Given the description of an element on the screen output the (x, y) to click on. 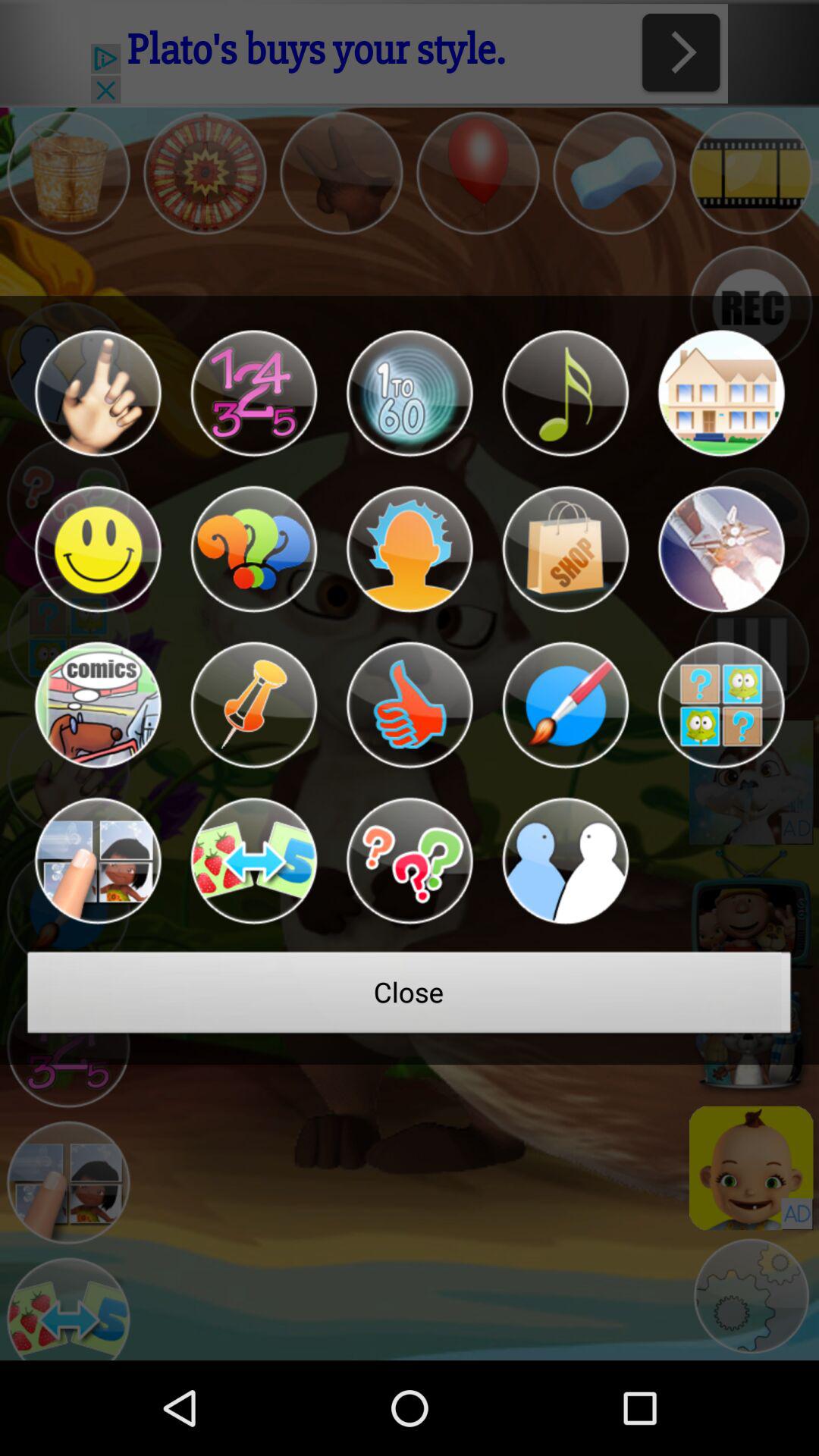
1 to 60 (409, 393)
